Given the description of an element on the screen output the (x, y) to click on. 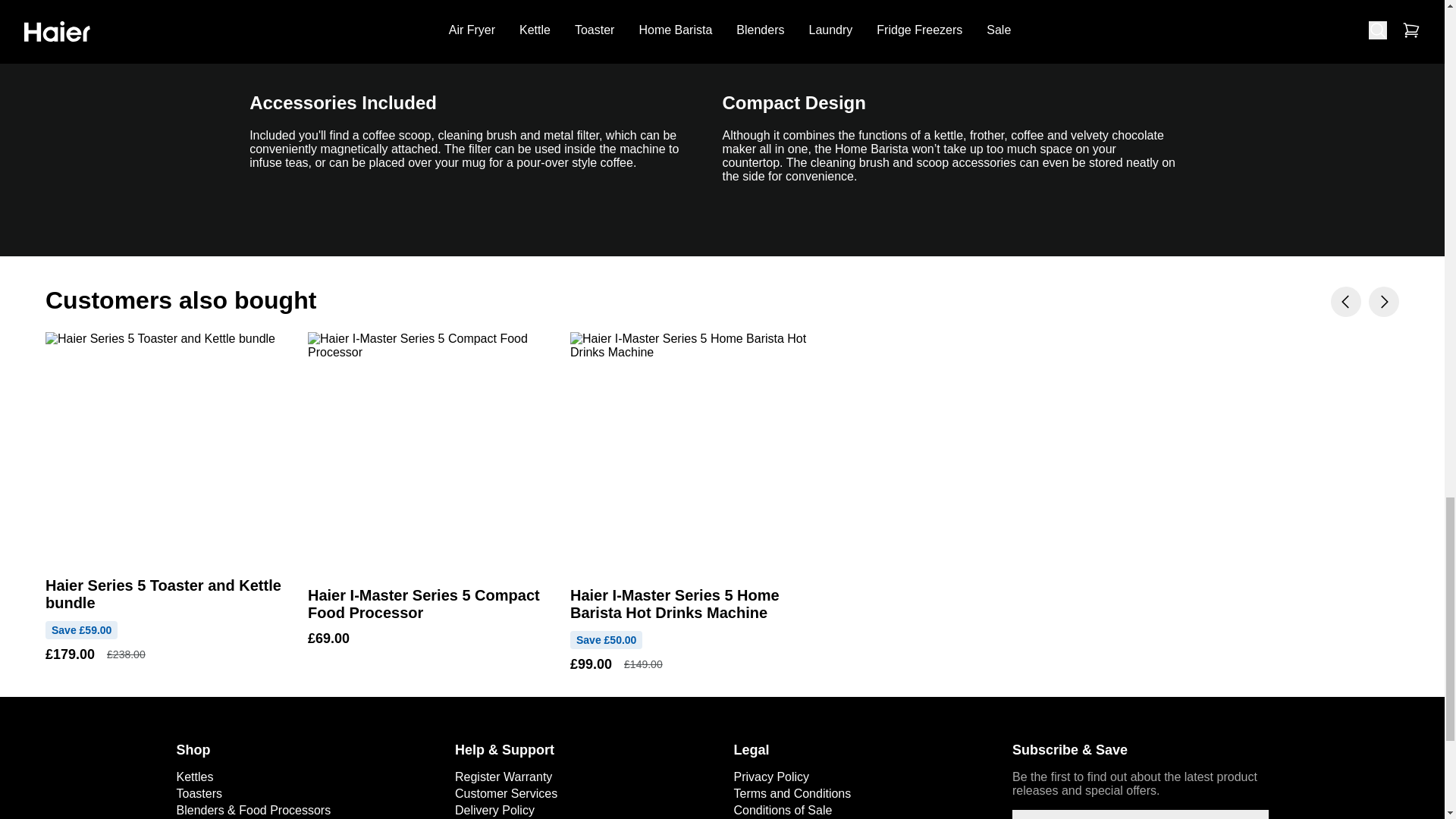
Toasters (198, 793)
Kettles (194, 776)
